Given the description of an element on the screen output the (x, y) to click on. 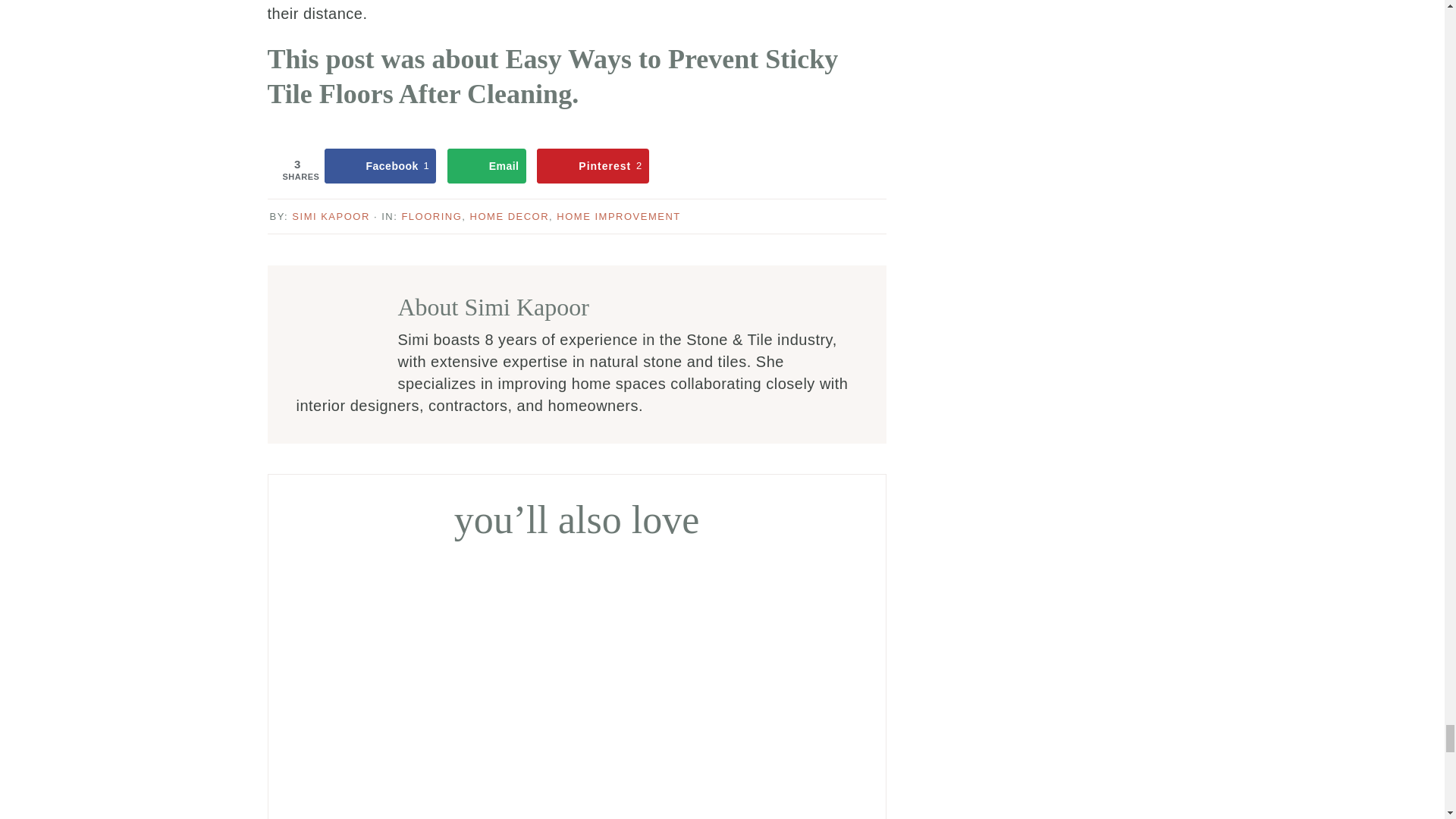
Save to Pinterest (592, 165)
Send over email (485, 165)
Share on Facebook (379, 165)
